Given the description of an element on the screen output the (x, y) to click on. 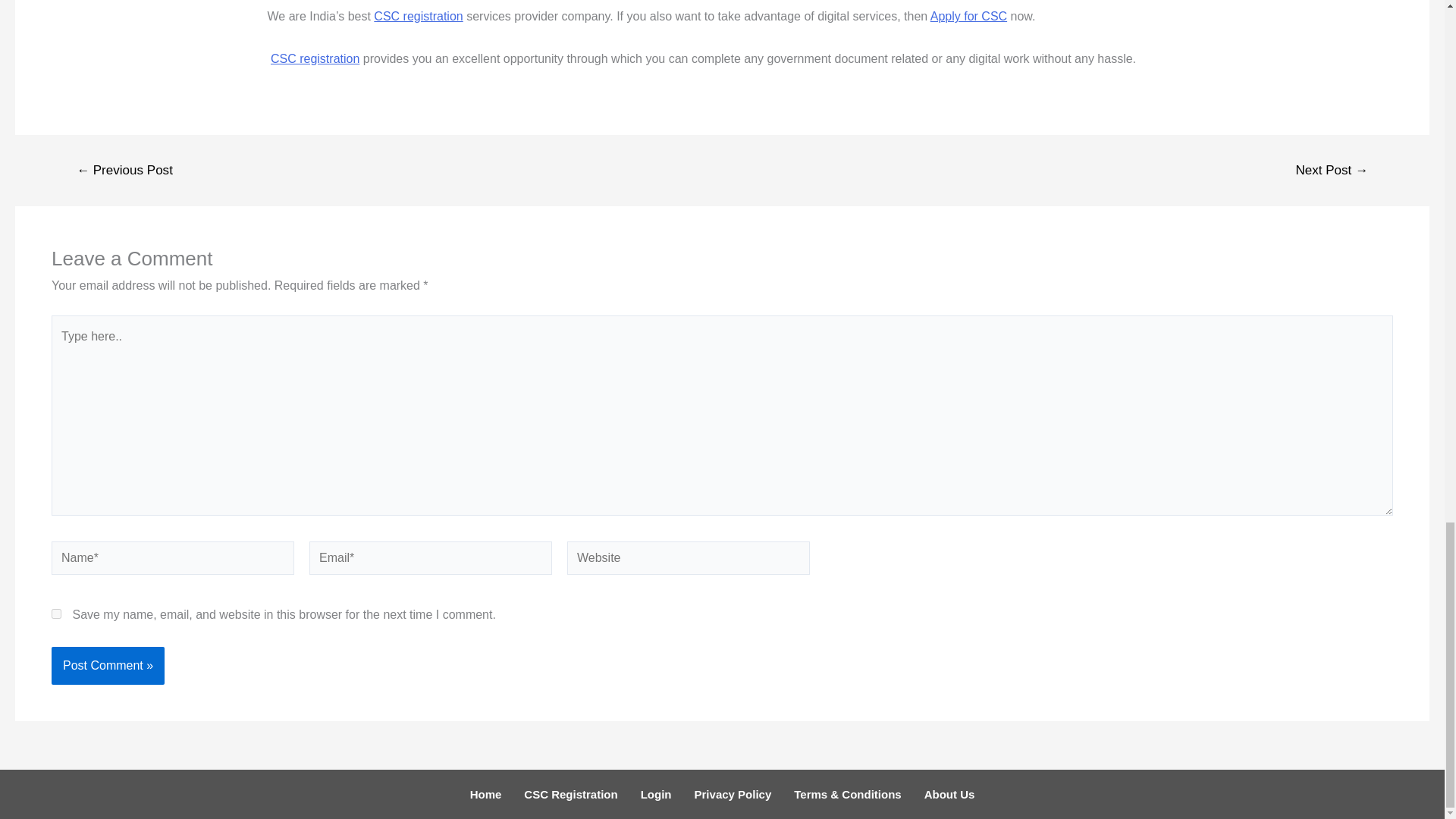
CSC Registration (570, 794)
Home (485, 794)
yes (55, 614)
About Us (949, 794)
Apply for CSC (968, 15)
CSC registration (418, 15)
Privacy Policy (732, 794)
CSC registration (314, 58)
Login (655, 794)
